Given the description of an element on the screen output the (x, y) to click on. 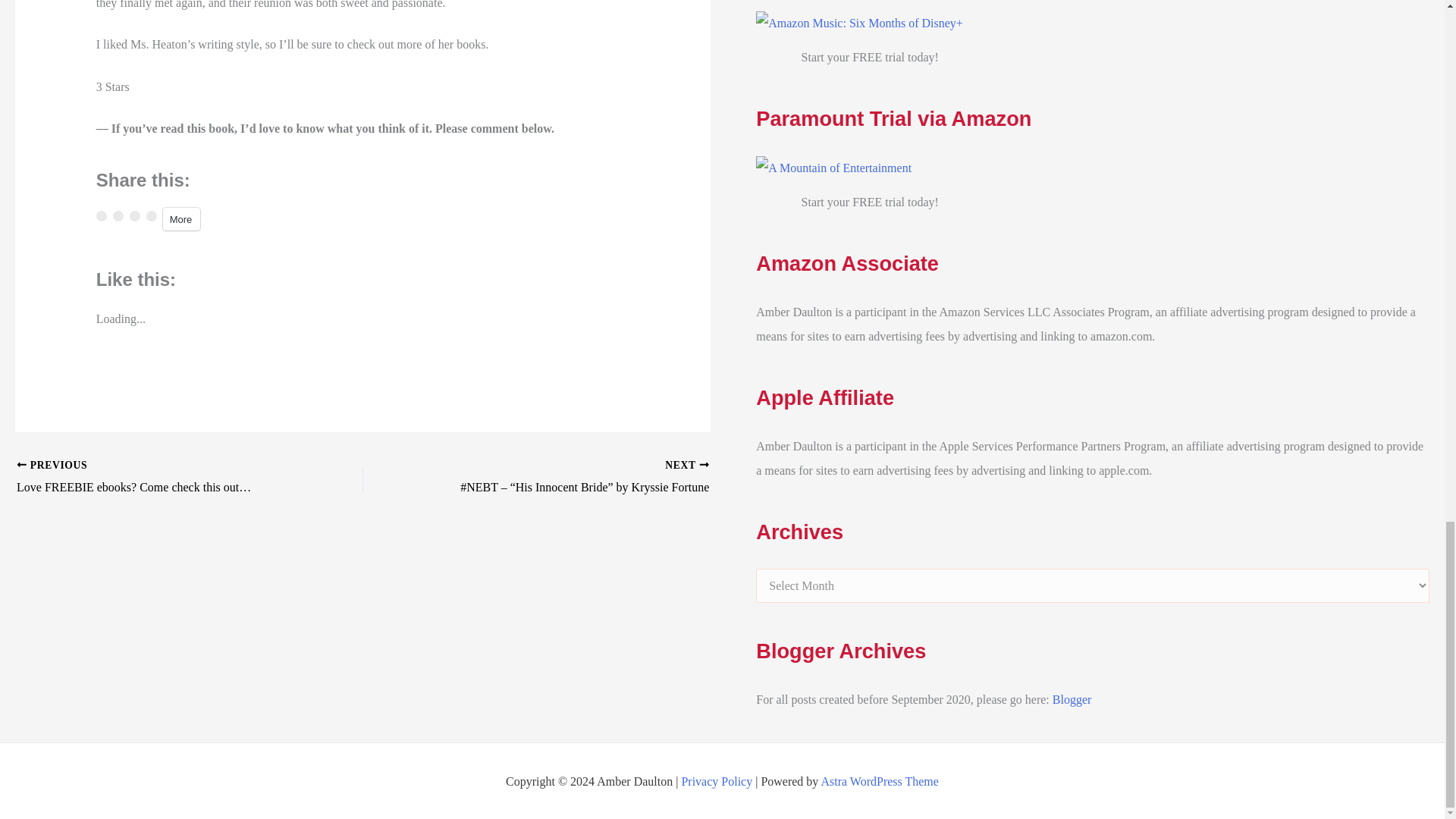
Love FREEBIE ebooks? Come check this out... (155, 477)
Click to share on Facebook (118, 215)
Click to share on Twitter (101, 215)
Click to share on LinkedIn (134, 215)
Click to share on Pinterest (152, 215)
